Given the description of an element on the screen output the (x, y) to click on. 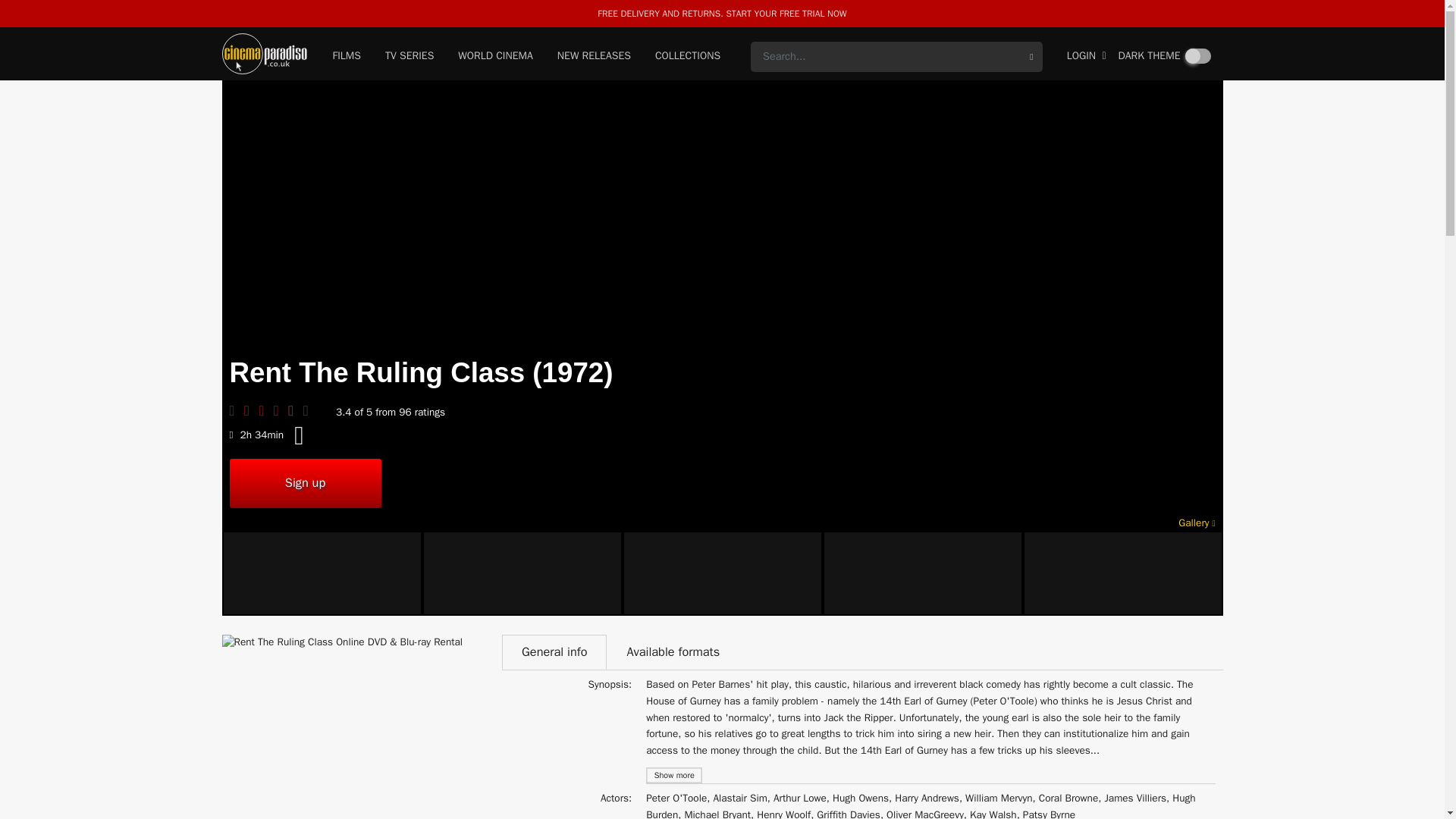
FREE DELIVERY AND RETURNS. START YOUR FREE TRIAL NOW (720, 13)
Click to rate 'Hated It' (251, 410)
Not interested (235, 410)
Click to rate 'Really Liked It' (295, 410)
Click to rate 'Loved It' (309, 410)
LOGIN  (1086, 56)
Click to rate 'Did not Like It' (266, 410)
on (1198, 55)
TV SERIES (409, 56)
